Given the description of an element on the screen output the (x, y) to click on. 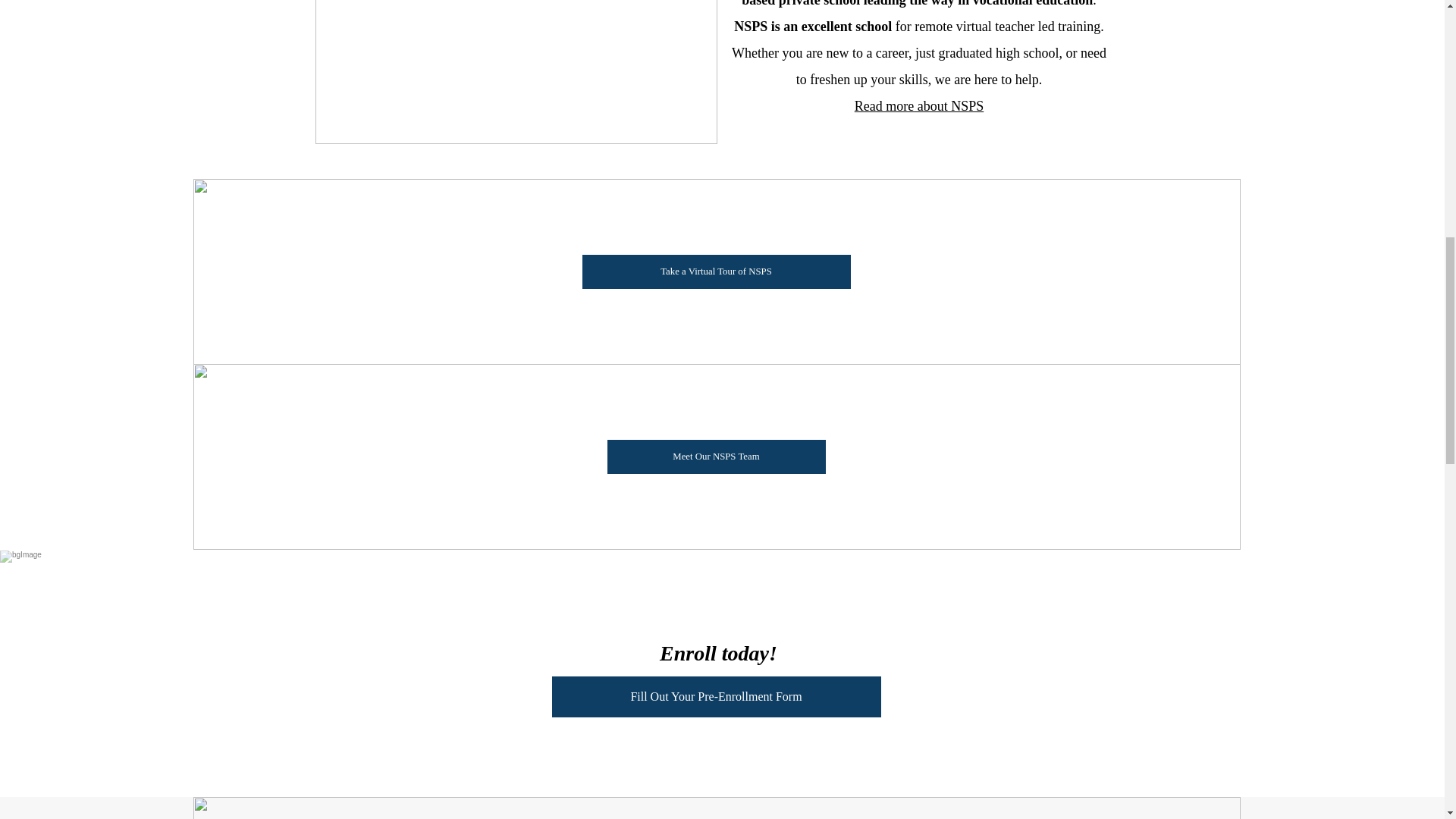
Take a Virtual Tour of NSPS (716, 271)
Read more about NSPS (919, 108)
Meet Our NSPS Team (716, 456)
Fill Out Your Pre-Enrollment Form (715, 696)
